Given the description of an element on the screen output the (x, y) to click on. 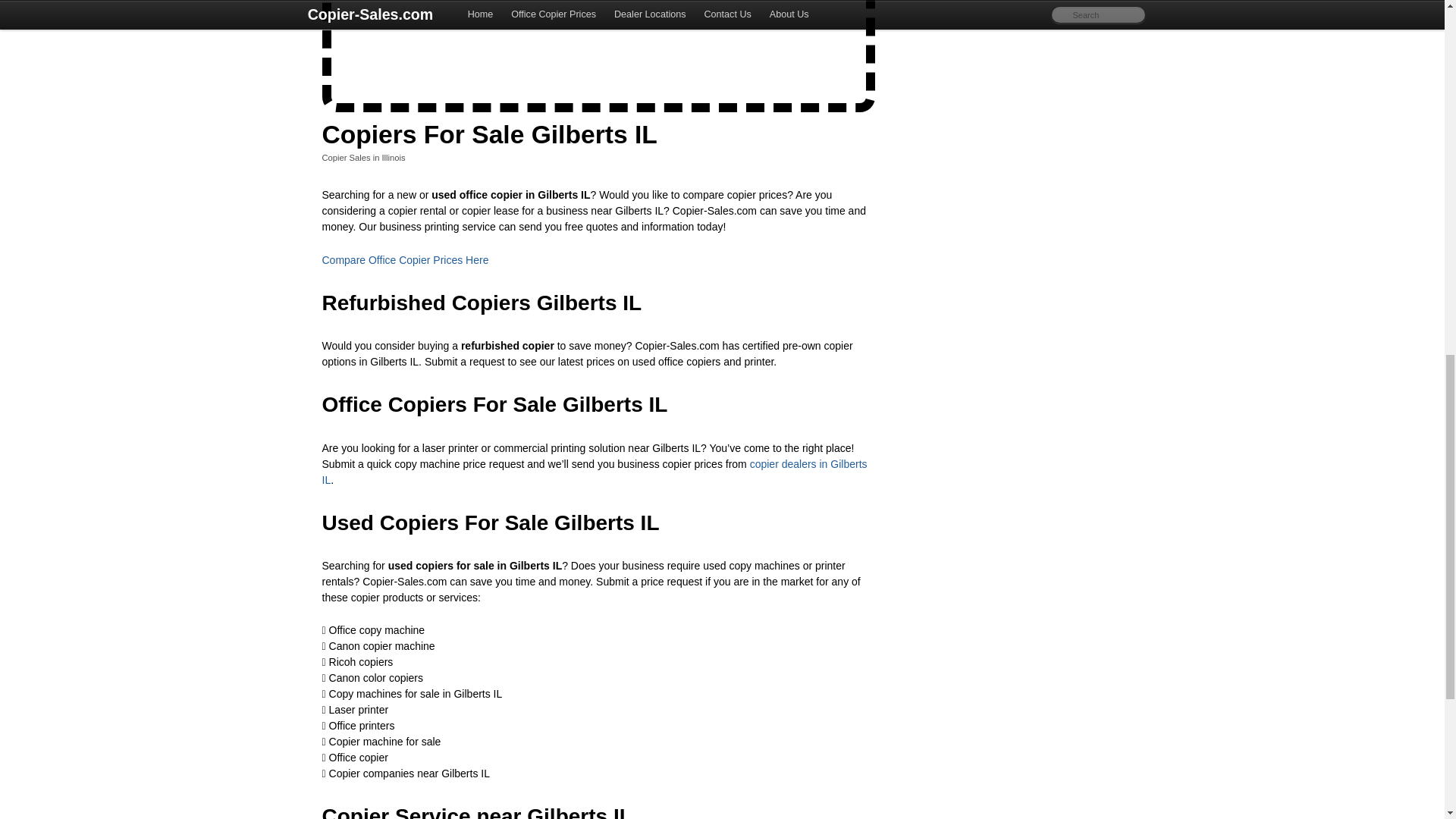
Compare Office Copier Prices Here (404, 259)
Illinois (393, 157)
copier dealers in Gilberts IL (593, 471)
Copier Sales (345, 157)
Embedded Wufoo Form (599, 49)
